Given the description of an element on the screen output the (x, y) to click on. 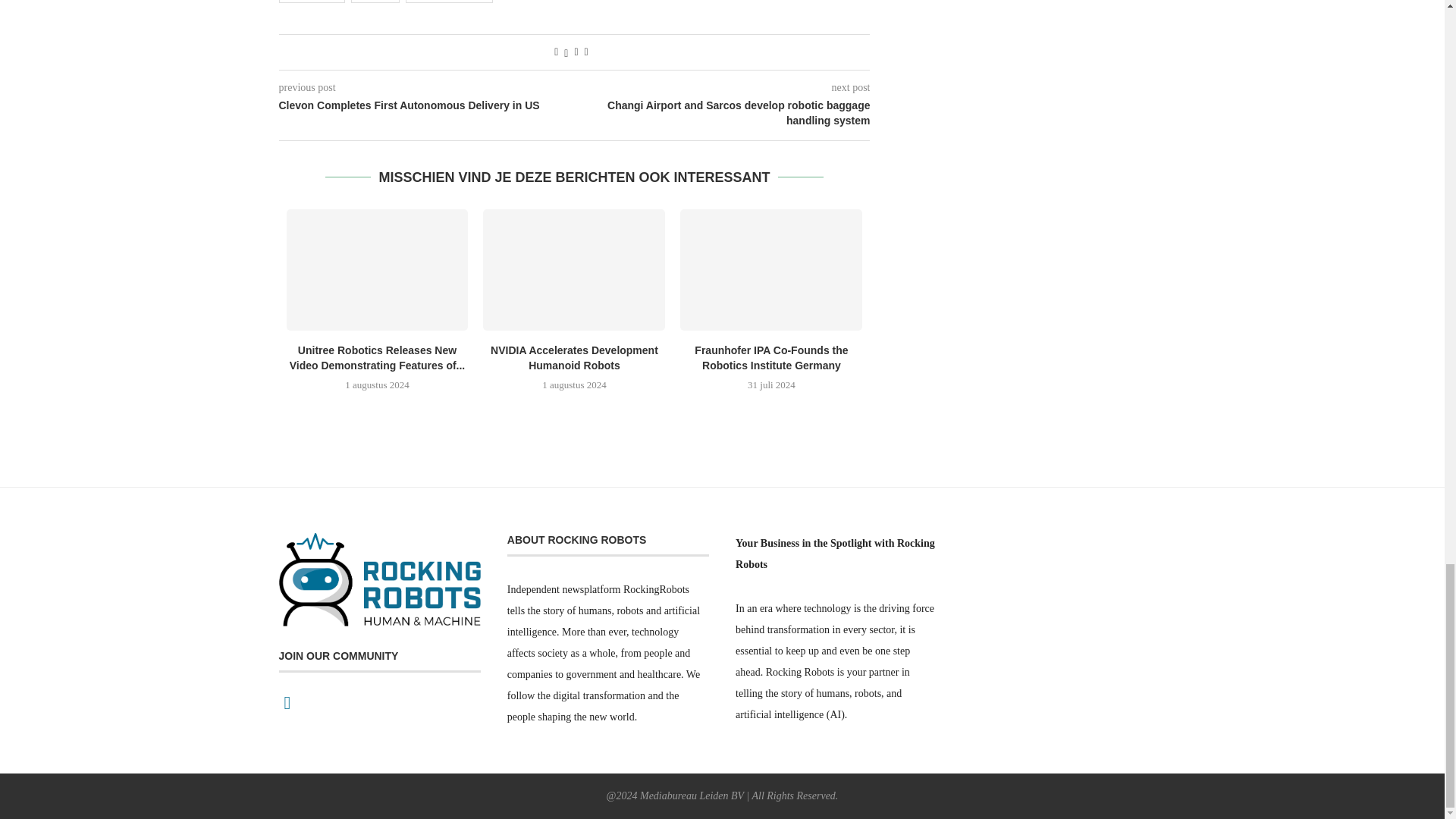
Fraunhofer IPA Co-Founds the Robotics Institute Germany (770, 269)
Clevon Completes First Autonomous Delivery in US (427, 105)
SUSTAINABILITY (448, 1)
NVIDIA Accelerates Development Humanoid Robots (574, 269)
POLLUTION (312, 1)
ROBOT (374, 1)
